Given the description of an element on the screen output the (x, y) to click on. 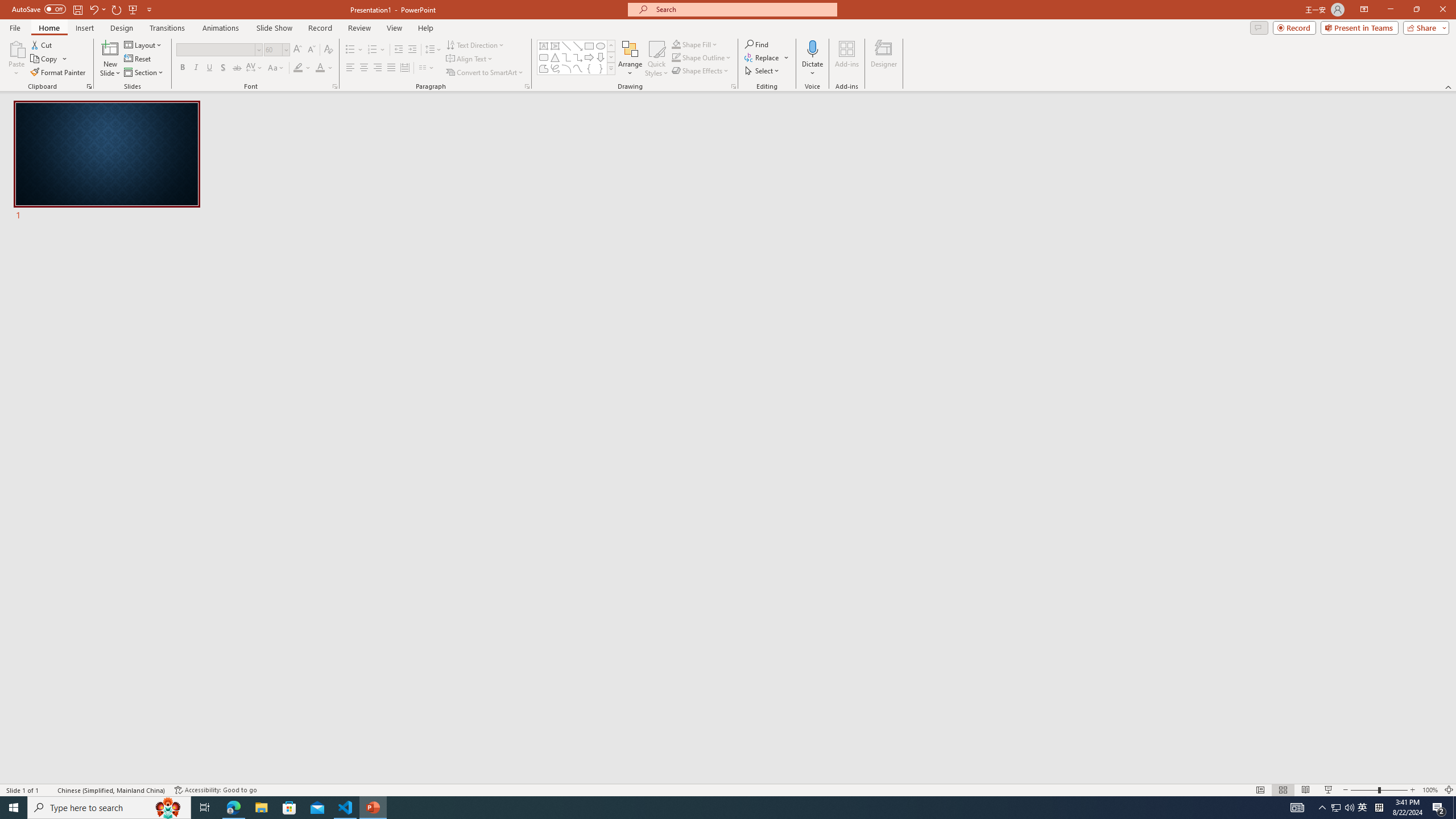
Quick Styles (656, 58)
Align Right (377, 67)
Line (566, 45)
Format Object... (733, 85)
Right Brace (600, 68)
Office Clipboard... (88, 85)
Underline (209, 67)
Text Direction (476, 44)
